Given the description of an element on the screen output the (x, y) to click on. 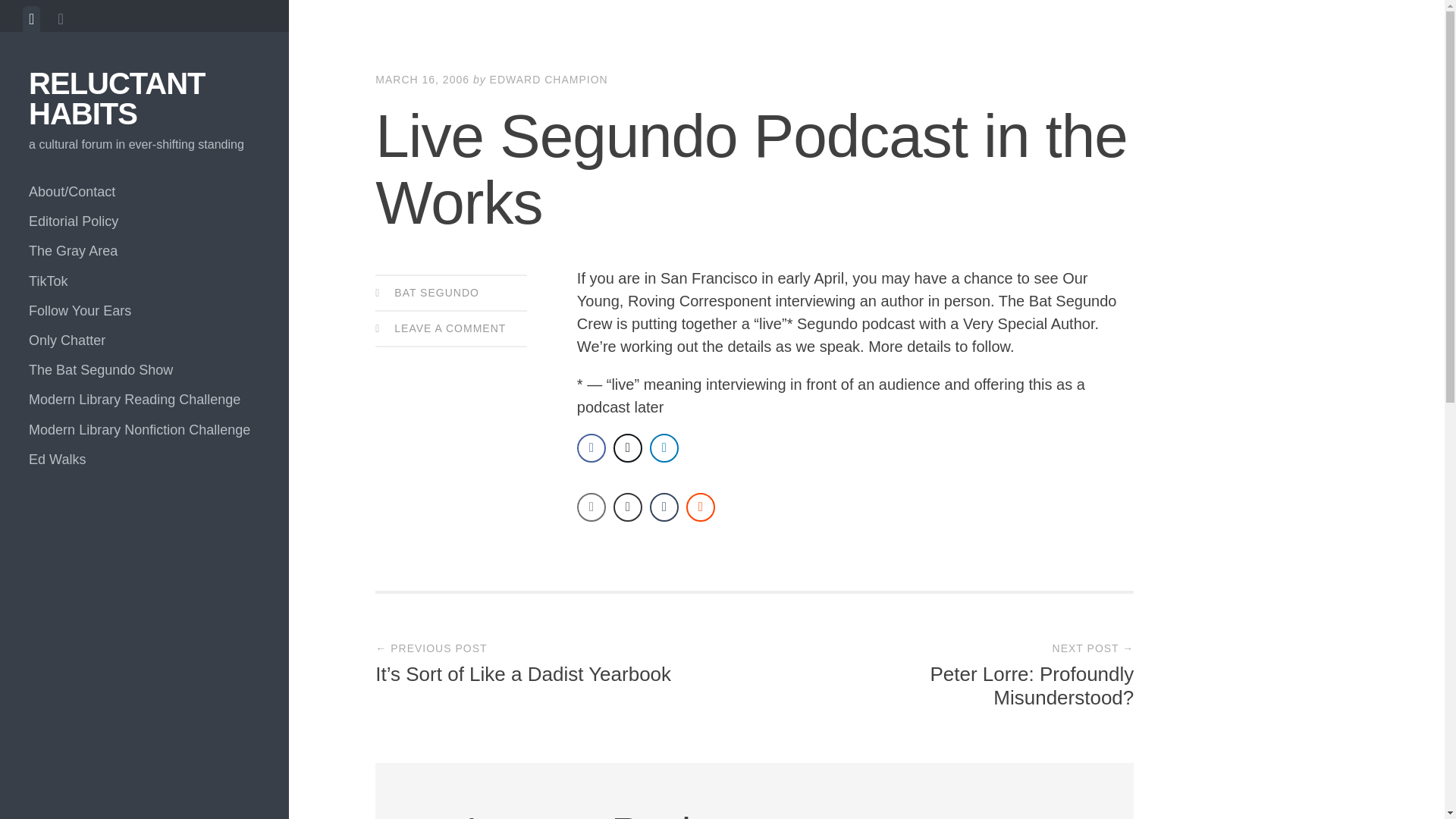
Modern Library Nonfiction Challenge (144, 430)
TikTok (144, 281)
Modern Library Reading Challenge (144, 399)
The Gray Area (144, 251)
Editorial Policy (144, 221)
RELUCTANT HABITS (117, 98)
Ed Walks (144, 460)
The Bat Segundo Show (144, 369)
Only Chatter (144, 340)
Follow Your Ears (144, 310)
View menu (31, 18)
View sidebar (60, 18)
